Given the description of an element on the screen output the (x, y) to click on. 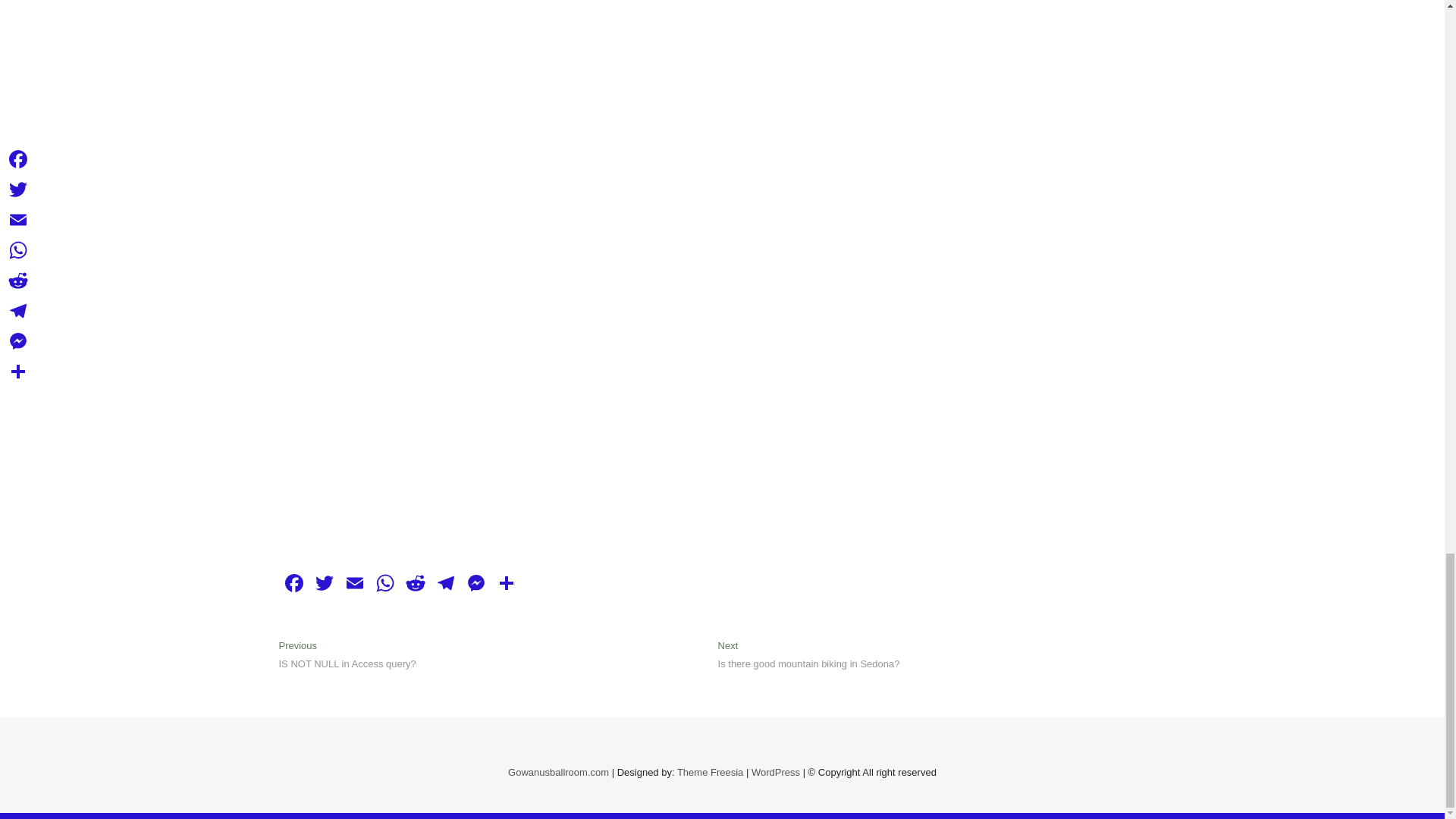
Theme Freesia (709, 772)
Telegram (445, 584)
Facebook (293, 584)
Reddit (415, 584)
Gowanusballroom.com (558, 772)
Telegram (445, 584)
Email (354, 584)
WhatsApp (384, 584)
Email (808, 656)
Share (354, 584)
Messenger (506, 584)
Messenger (476, 584)
WhatsApp (476, 584)
Twitter (384, 584)
